Given the description of an element on the screen output the (x, y) to click on. 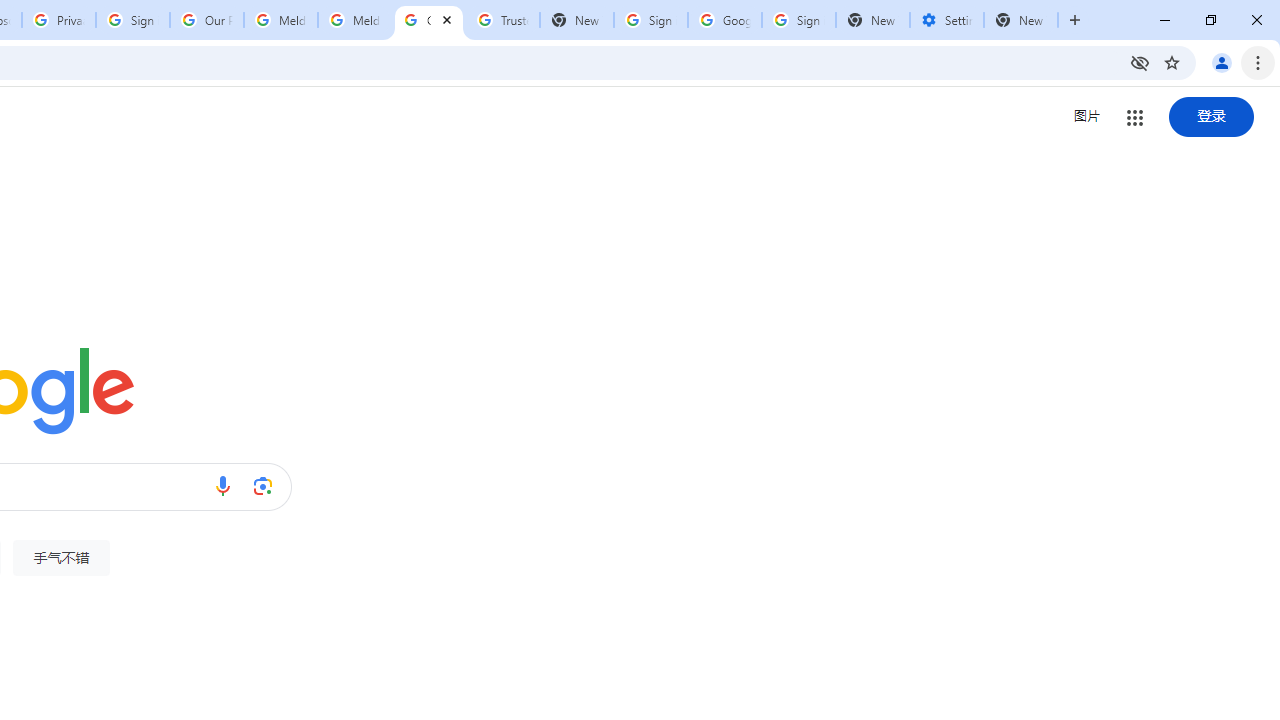
Settings - Addresses and more (947, 20)
Trusted Information and Content - Google Safety Center (502, 20)
Sign in - Google Accounts (133, 20)
Sign in - Google Accounts (798, 20)
